Given the description of an element on the screen output the (x, y) to click on. 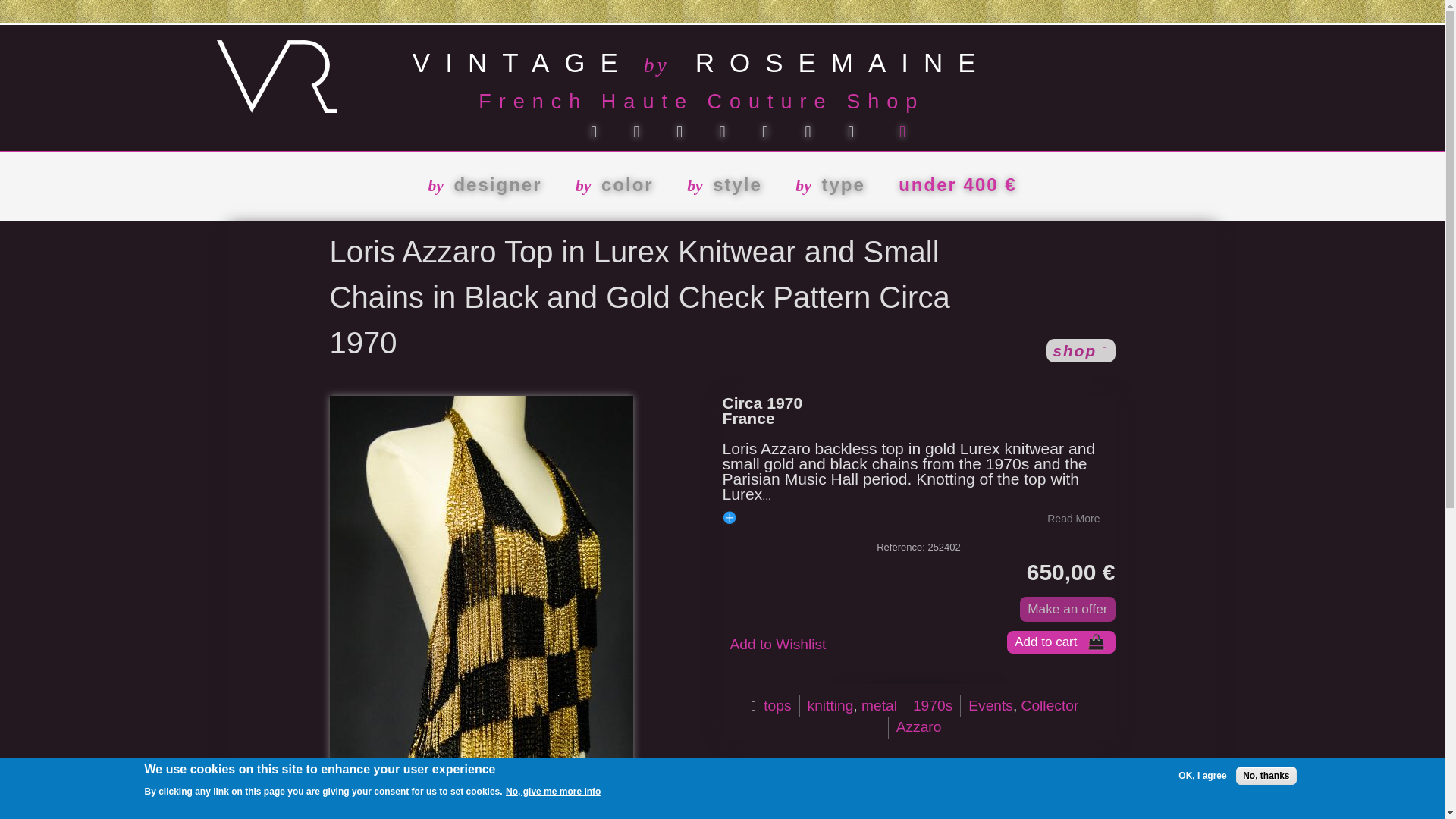
vintage by rosemaine (701, 58)
Home (701, 58)
Add to cart (1061, 641)
vintage by rosemaine (276, 103)
Skip to main content (685, 1)
French Haute Couture Shop (633, 101)
